Given the description of an element on the screen output the (x, y) to click on. 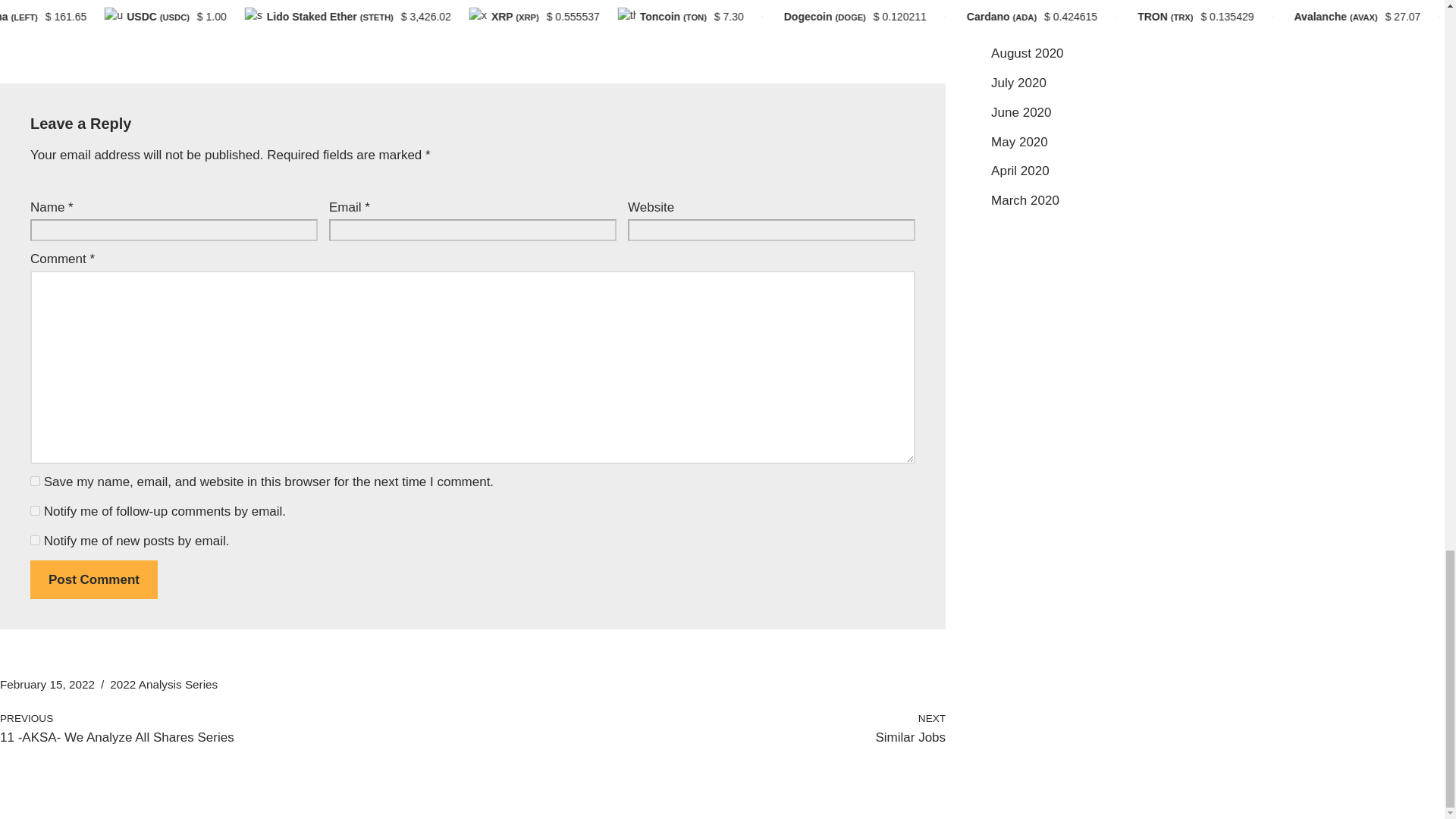
subscribe (35, 510)
Post Comment (93, 579)
subscribe (35, 540)
yes (35, 480)
